Given the description of an element on the screen output the (x, y) to click on. 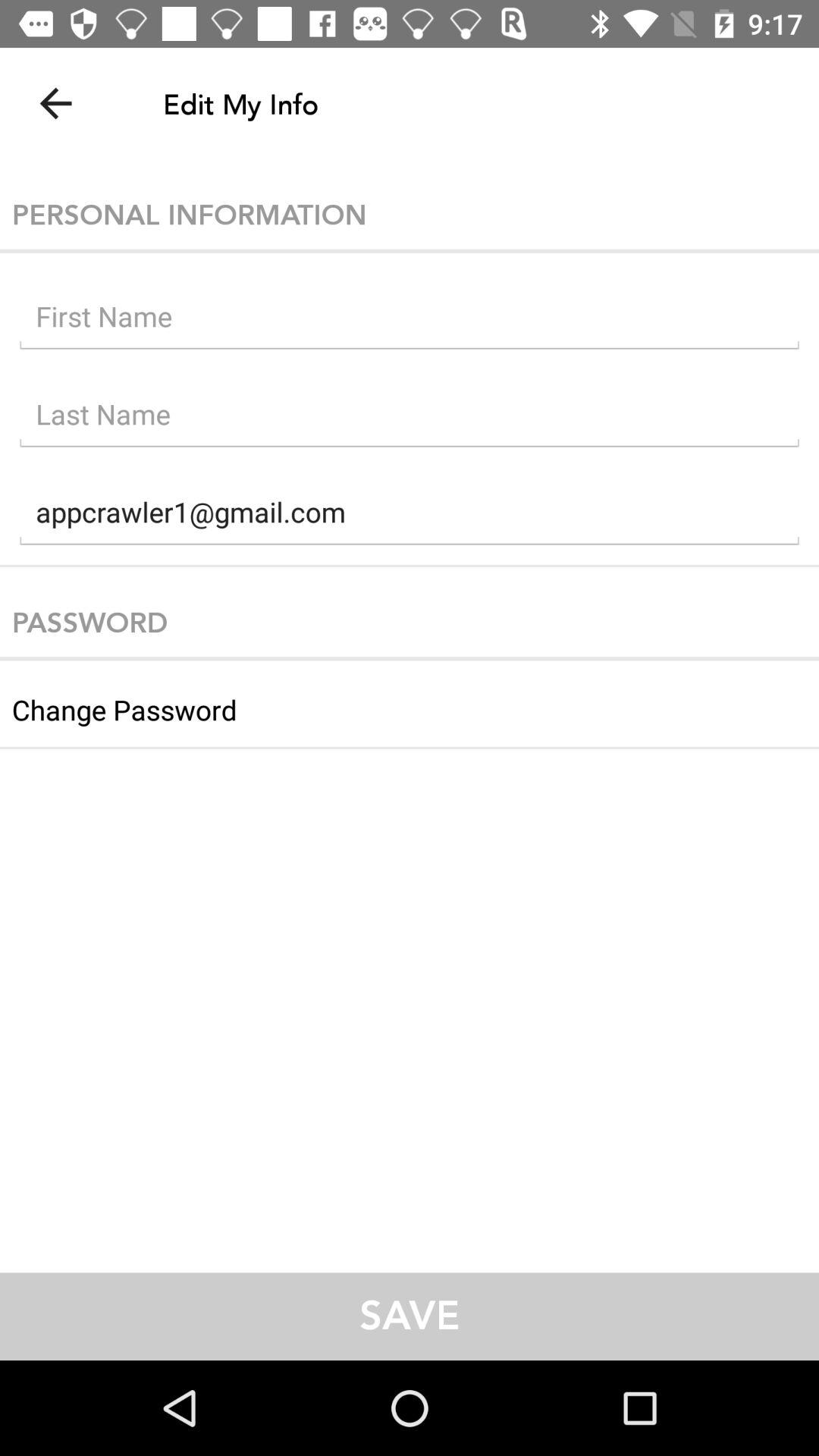
jump to the save (409, 1316)
